Given the description of an element on the screen output the (x, y) to click on. 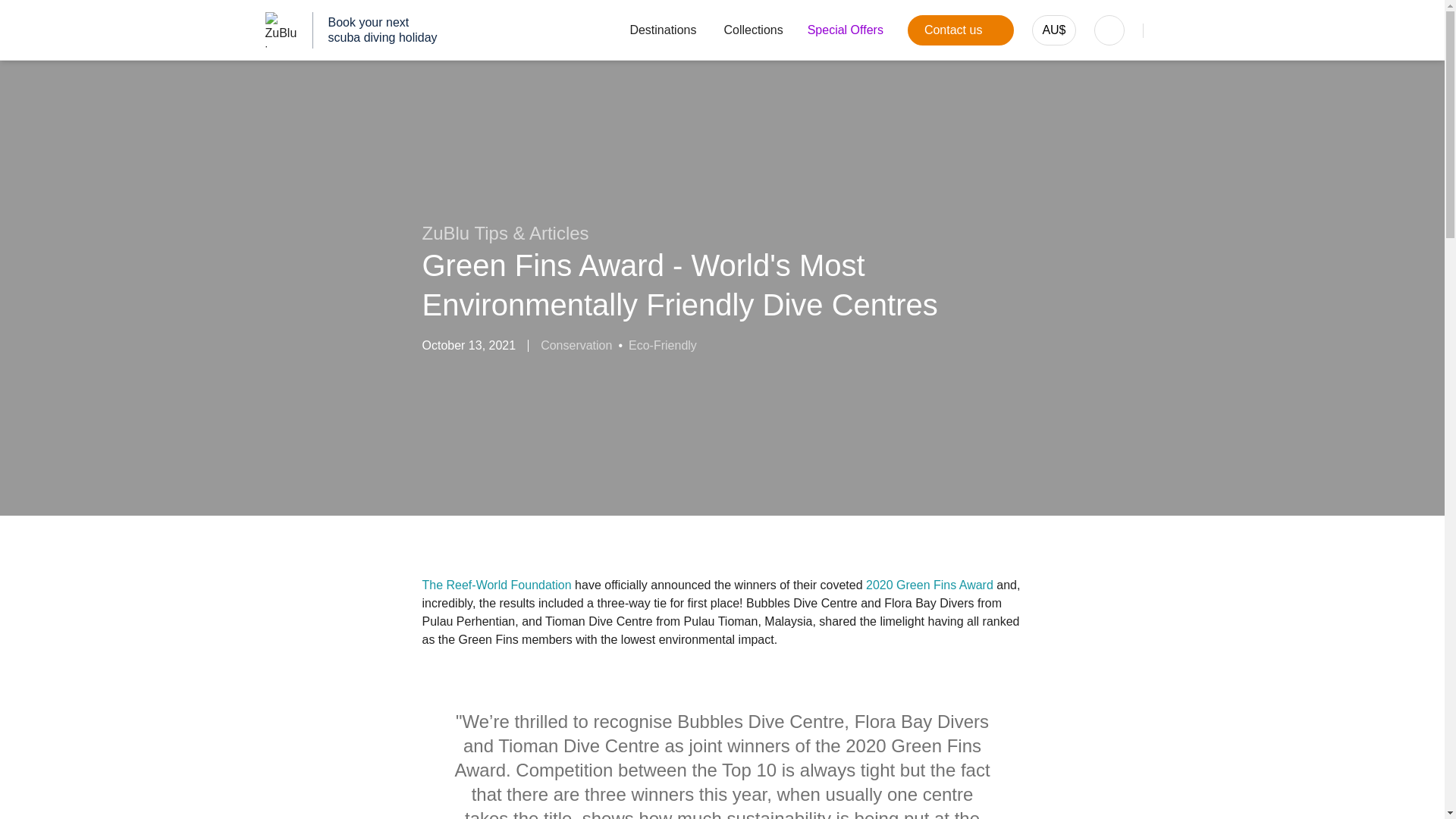
Contact us (960, 30)
Toggle dropdown (960, 30)
button (845, 30)
button (753, 30)
Collections (753, 30)
Special Offers (845, 30)
Toggle dropdown (1108, 30)
2020 Green Fins Award (929, 584)
The Reef-World Foundation (496, 584)
Destinations (651, 30)
